Given the description of an element on the screen output the (x, y) to click on. 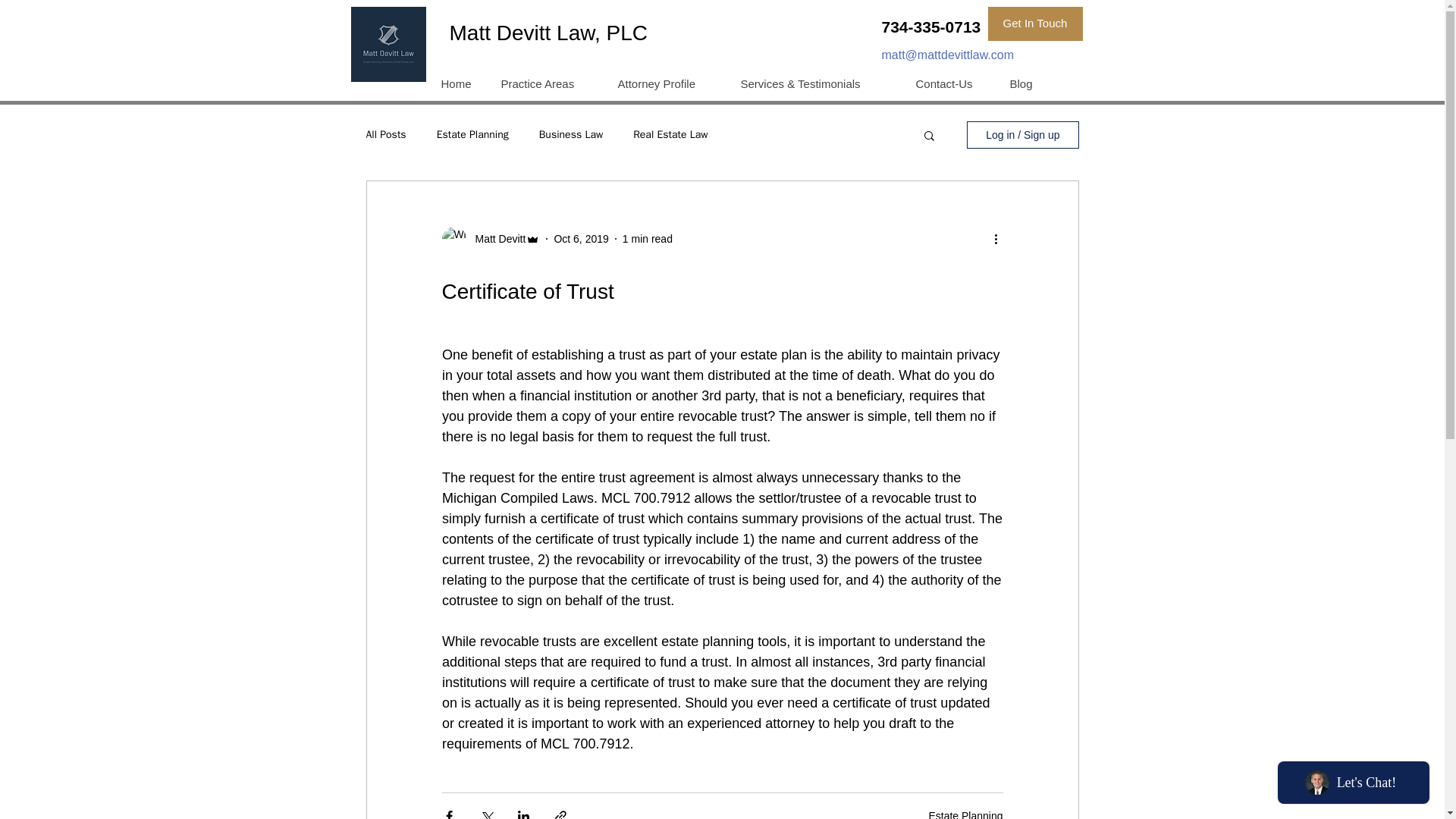
Home (458, 83)
Oct 6, 2019 (580, 238)
Estate Planning (965, 814)
All Posts (385, 134)
Estate Planning (472, 134)
Practice Areas (546, 83)
Business Law (570, 134)
Get In Touch (1034, 23)
Contact-Us (950, 83)
Attorney Profile (666, 83)
Real Estate Law (670, 134)
Matt Devitt (495, 238)
1 min read (647, 238)
Blog (1023, 83)
Matt Devitt Law, PLC (547, 33)
